Given the description of an element on the screen output the (x, y) to click on. 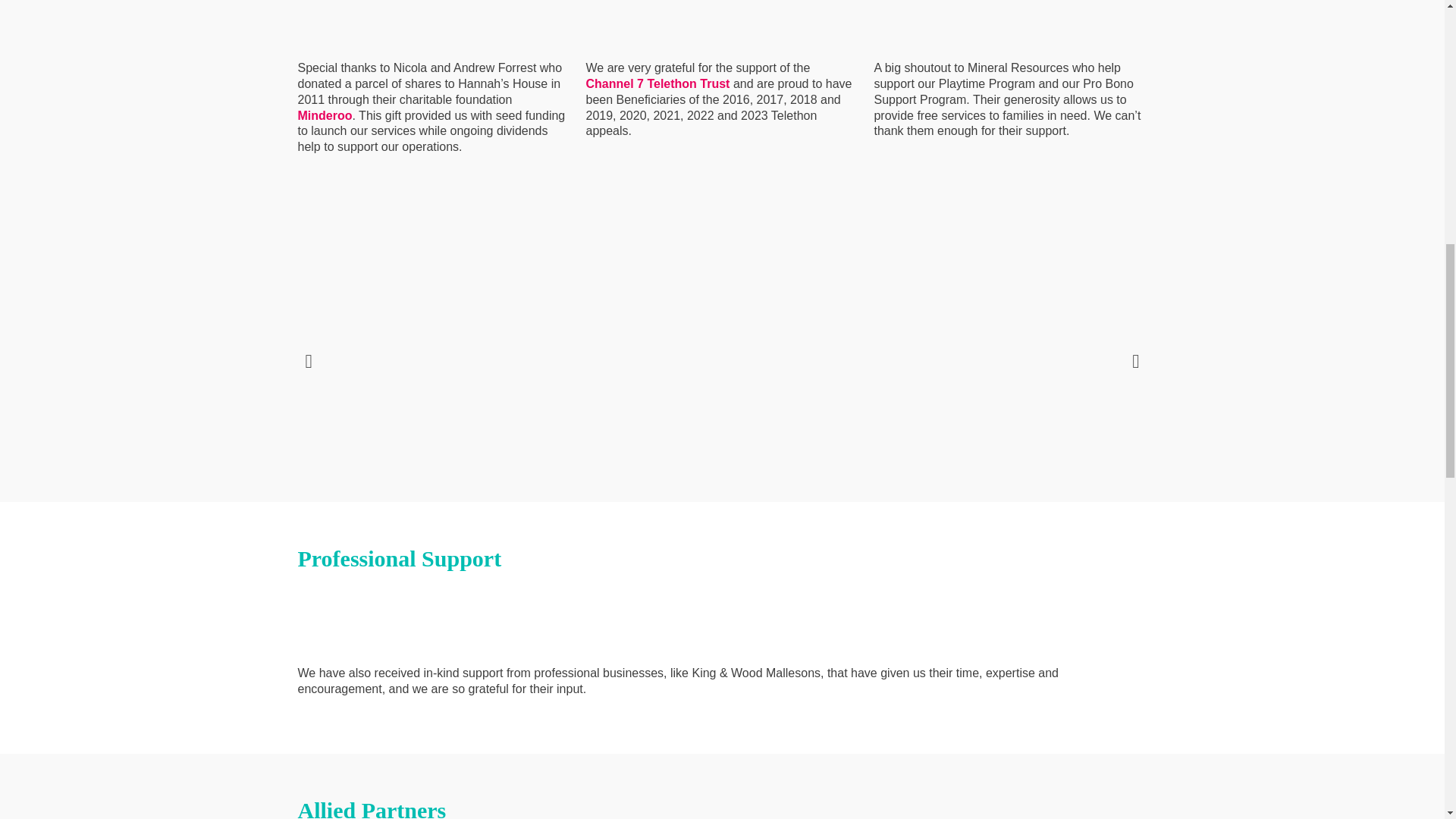
telethon7-logo (679, 22)
min-resources-logo (967, 22)
logo-minderoo-foundation (334, 22)
